Given the description of an element on the screen output the (x, y) to click on. 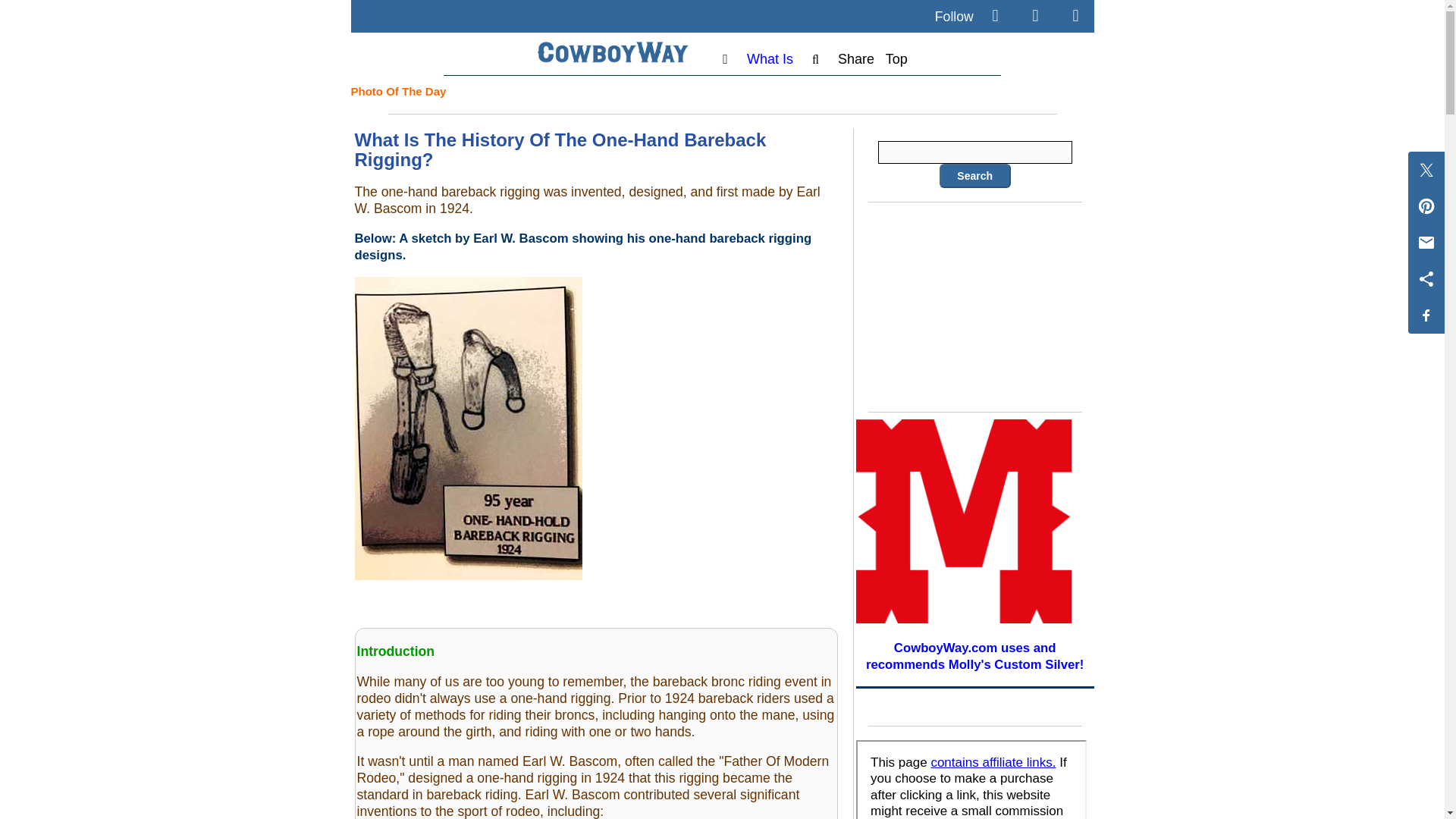
Top (896, 58)
What Is (769, 58)
Share (856, 58)
Photo Of The Day (397, 91)
